Given the description of an element on the screen output the (x, y) to click on. 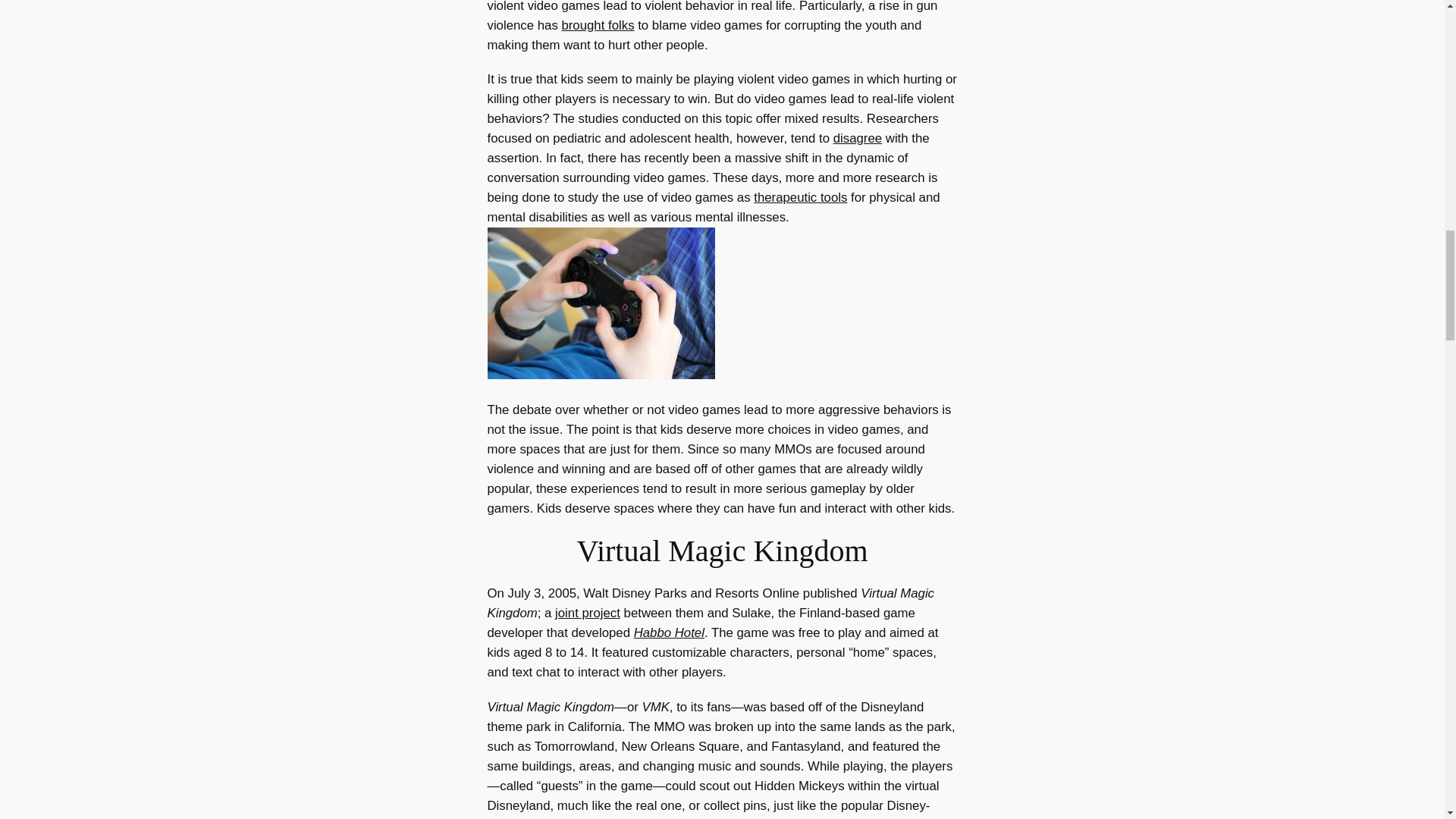
disagree (857, 138)
joint project (587, 612)
brought folks (596, 25)
therapeutic tools (800, 197)
Habbo Hotel (668, 632)
